Given the description of an element on the screen output the (x, y) to click on. 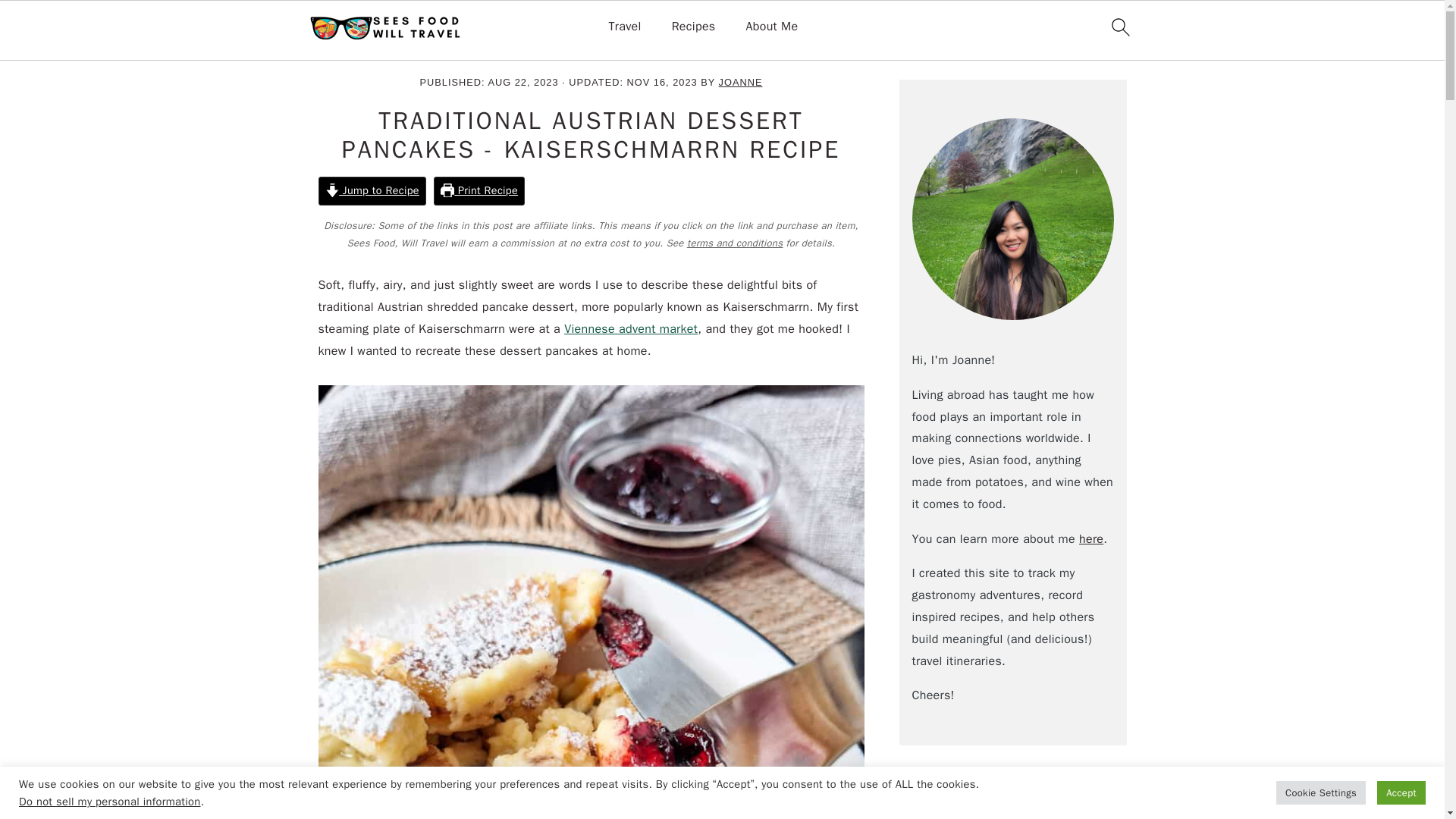
Print Recipe (478, 190)
Travel (624, 26)
terms and conditions (735, 242)
European (444, 50)
Recipes (384, 50)
Viennese advent market (630, 328)
search icon (1119, 26)
About Me (771, 26)
Home (334, 50)
